Given the description of an element on the screen output the (x, y) to click on. 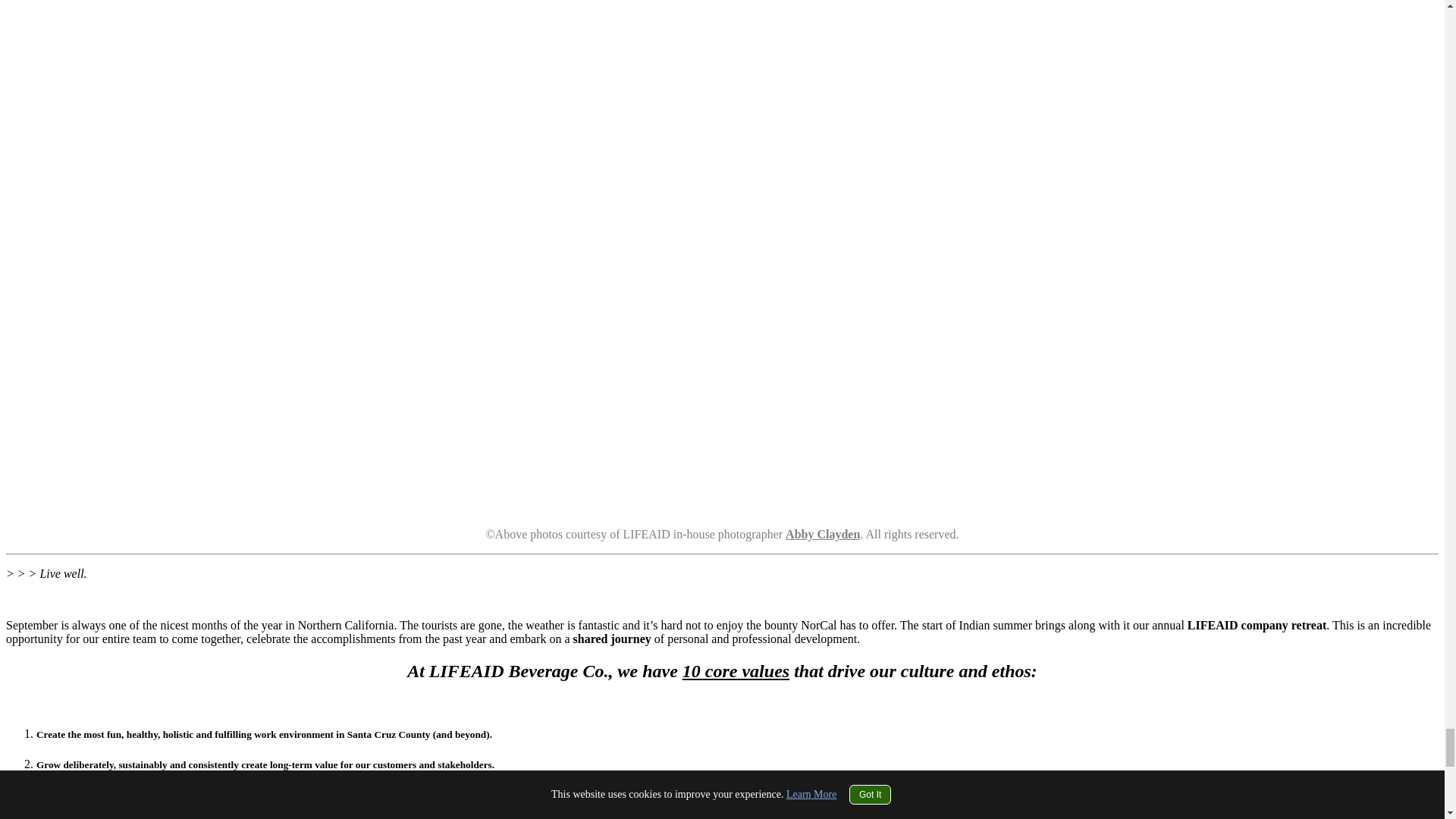
Abby Clayden (823, 533)
